Given the description of an element on the screen output the (x, y) to click on. 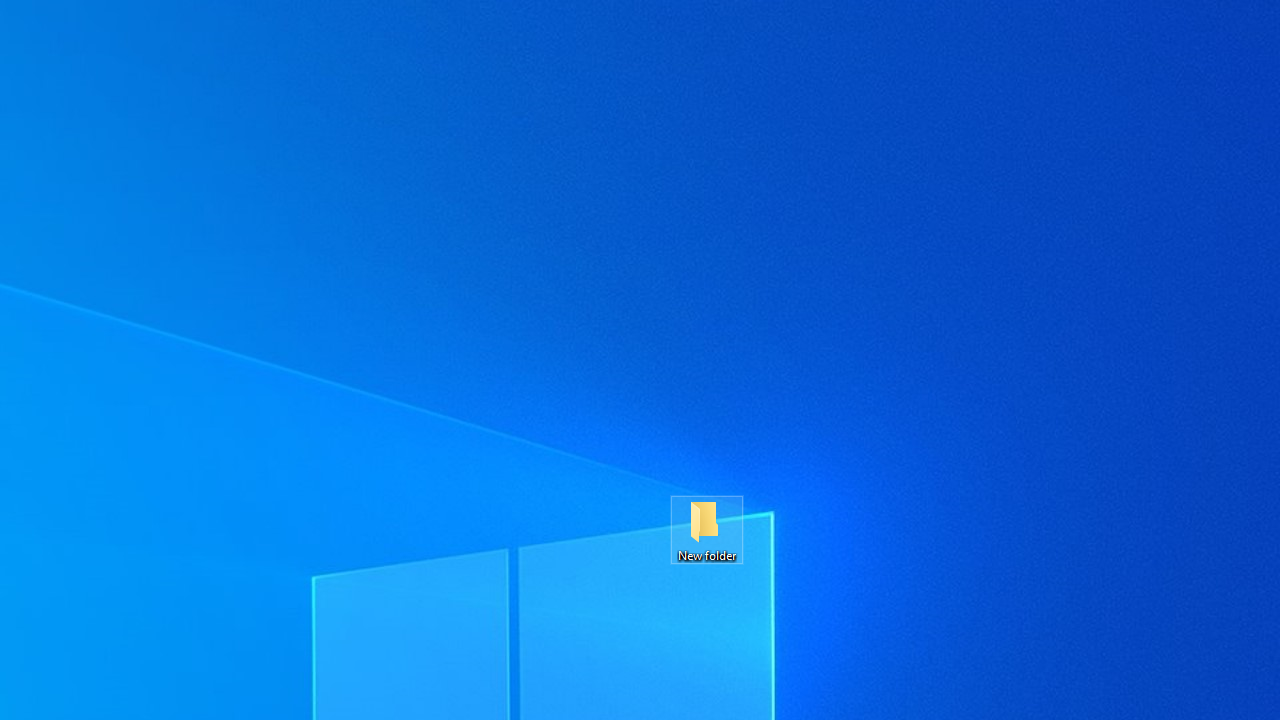
New folder (706, 530)
